Given the description of an element on the screen output the (x, y) to click on. 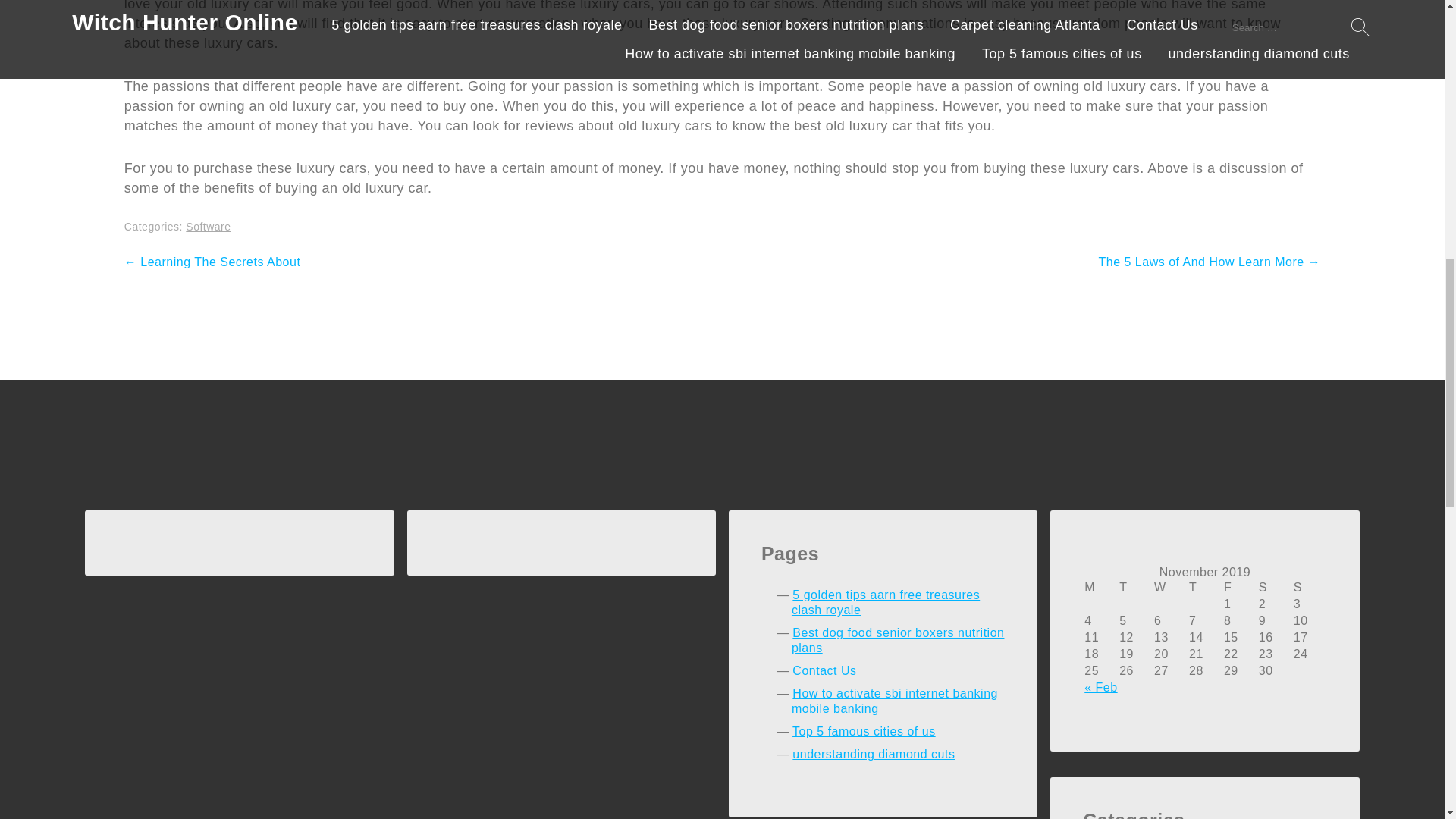
Software (208, 226)
Monday (1100, 587)
Tuesday (1135, 587)
Saturday (1274, 587)
Wednesday (1170, 587)
5 golden tips aarn free treasures clash royale (885, 602)
understanding diamond cuts (873, 753)
Best dog food senior boxers nutrition plans (898, 640)
How to activate sbi internet banking mobile banking (894, 700)
Sunday (1309, 587)
